Given the description of an element on the screen output the (x, y) to click on. 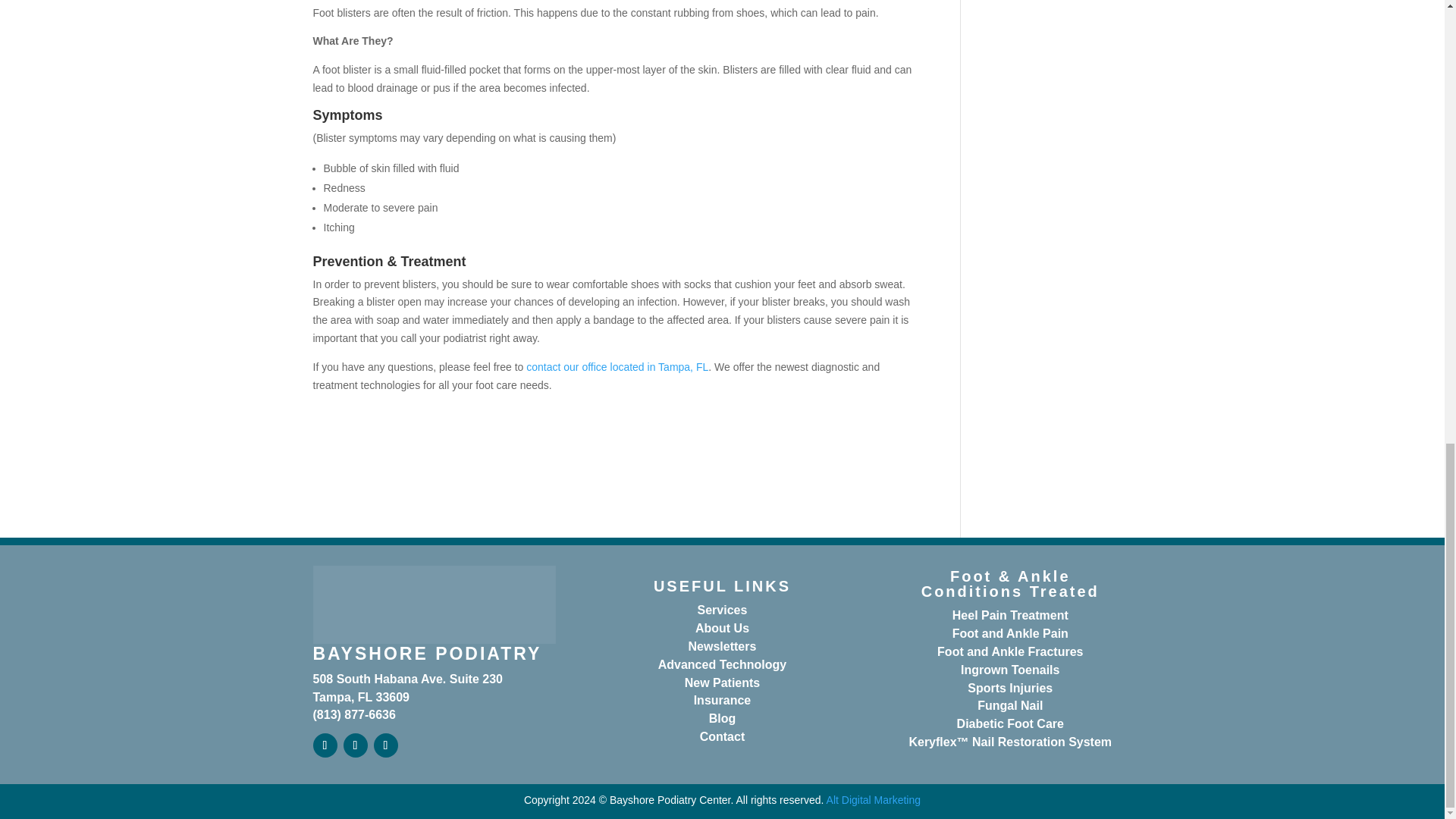
contact our office located in Tampa, FL (616, 367)
Follow on X (354, 745)
Follow on Instagram (384, 745)
Services (722, 609)
About Us (722, 627)
Follow on Facebook (324, 745)
